Given the description of an element on the screen output the (x, y) to click on. 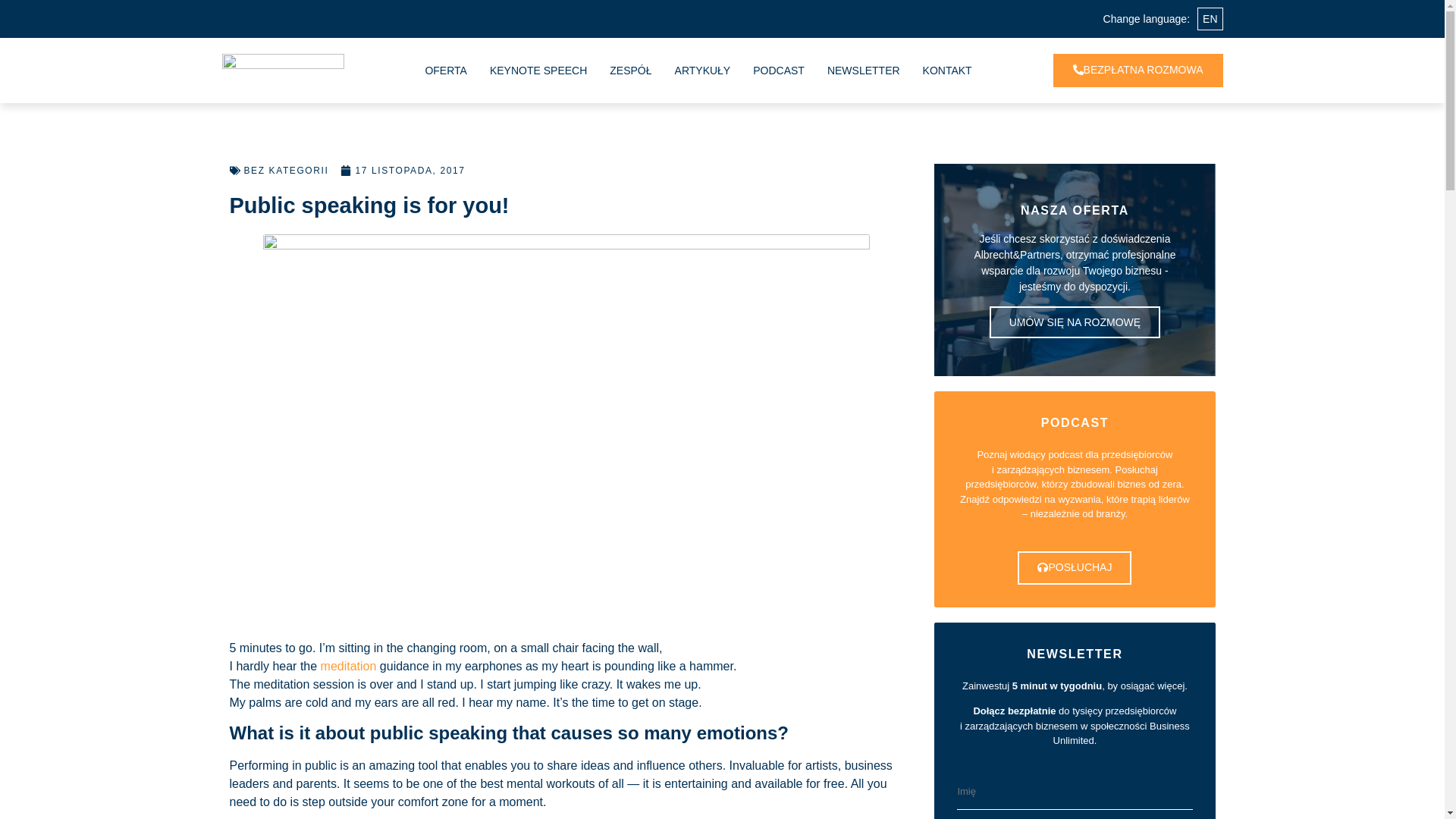
EN (1209, 18)
KONTAKT (947, 70)
NEWSLETTER (863, 70)
meditation (350, 666)
OFERTA (445, 70)
PODCAST (778, 70)
KEYNOTE SPEECH (537, 70)
